Given the description of an element on the screen output the (x, y) to click on. 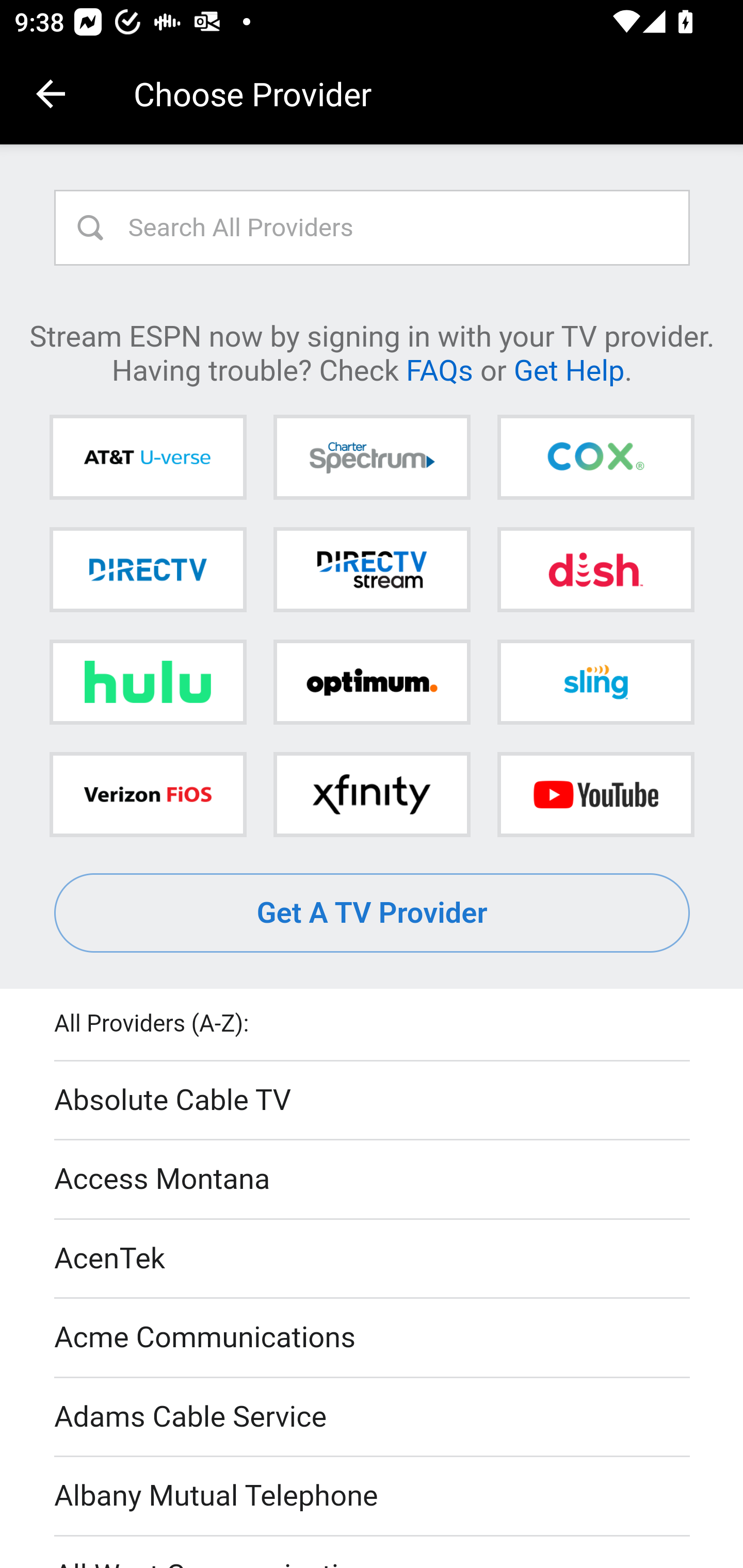
Navigate up (50, 93)
FAQs (438, 369)
Get Help (569, 369)
AT&T U-verse (147, 457)
Charter Spectrum (371, 457)
Cox (595, 457)
DIRECTV (147, 568)
DIRECTV STREAM (371, 568)
DISH (595, 568)
Hulu (147, 681)
Optimum (371, 681)
Sling TV (595, 681)
Verizon FiOS (147, 793)
Xfinity (371, 793)
YouTube TV (595, 793)
Get A TV Provider (372, 912)
Absolute Cable TV (372, 1100)
Access Montana (372, 1178)
AcenTek (372, 1258)
Acme Communications (372, 1338)
Adams Cable Service (372, 1417)
Albany Mutual Telephone (372, 1497)
